Given the description of an element on the screen output the (x, y) to click on. 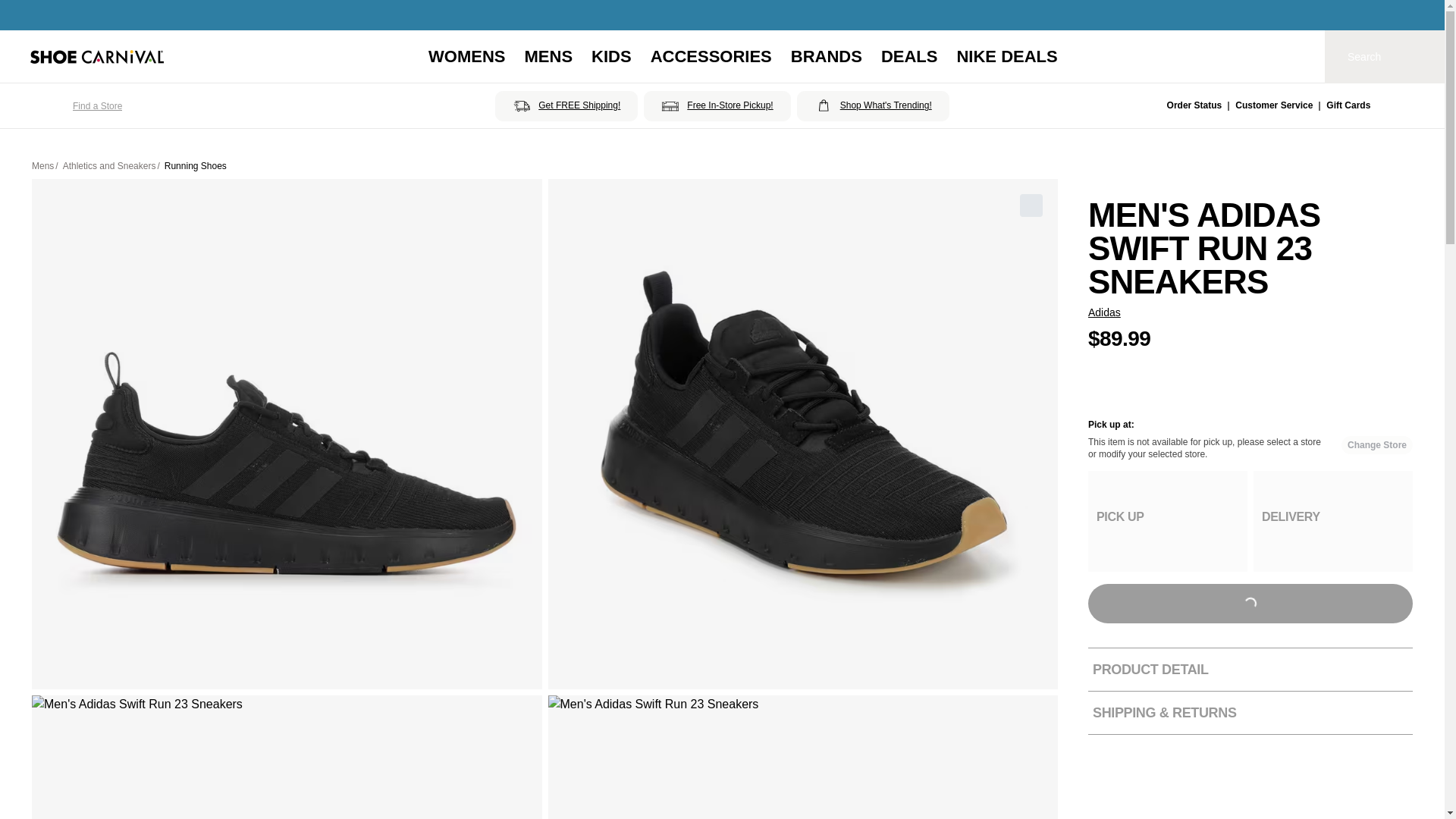
Shoe Carnival Home (96, 56)
Change Store (1376, 444)
Get FREE Shipping! (566, 105)
Gift Cards (1348, 106)
Loading... (1249, 603)
MENS (548, 55)
Shop What's Trending! (872, 105)
BRANDS (825, 55)
Mens (42, 165)
Free In-Store Pickup! (716, 105)
